Given the description of an element on the screen output the (x, y) to click on. 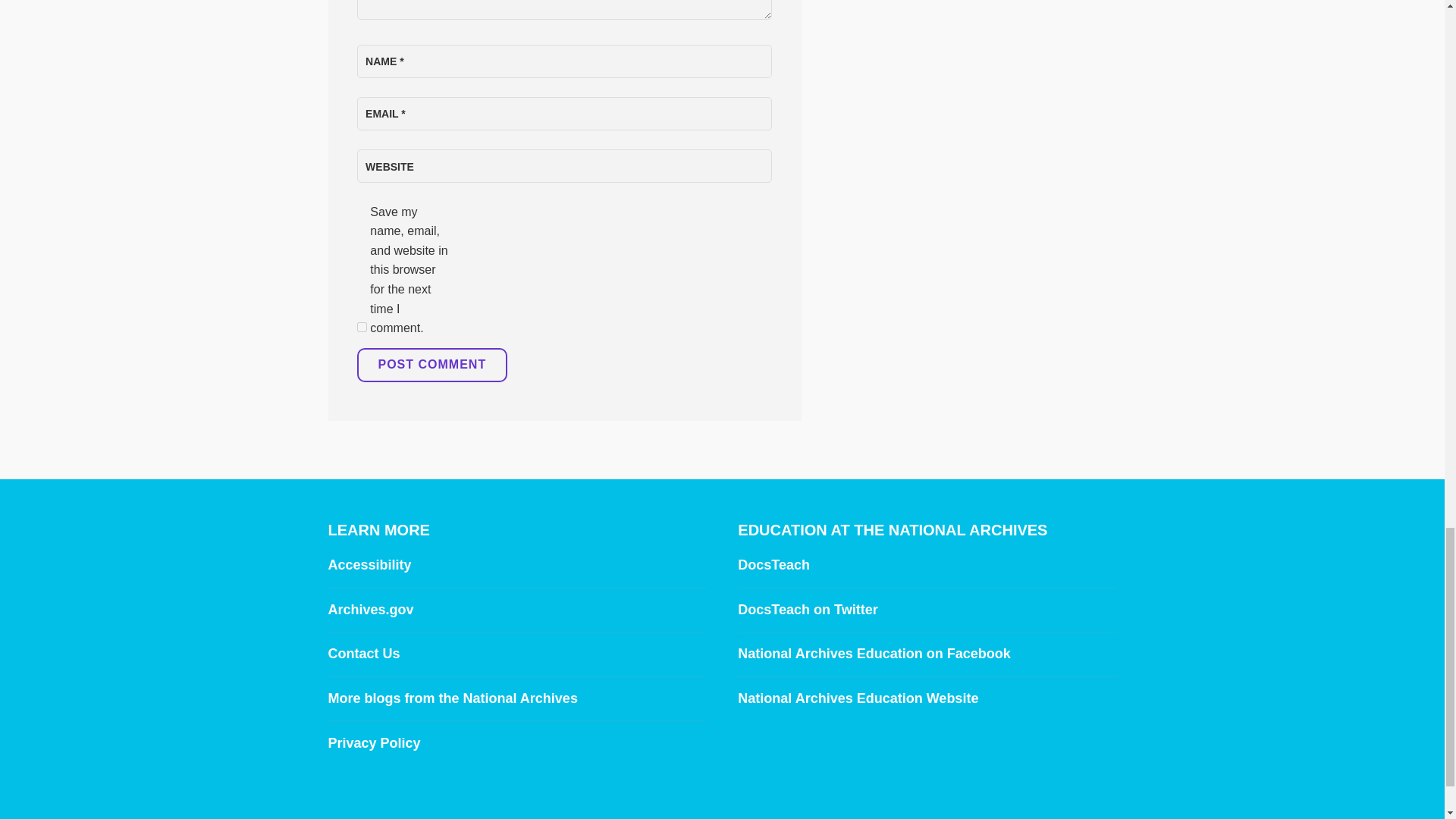
yes (361, 327)
Contact information (362, 653)
National Archives privacy policy (373, 743)
Post Comment (431, 365)
Post Comment (431, 365)
U.S. National Archives Blogroll (451, 698)
Accessibility information on archives.gov (368, 564)
